Given the description of an element on the screen output the (x, y) to click on. 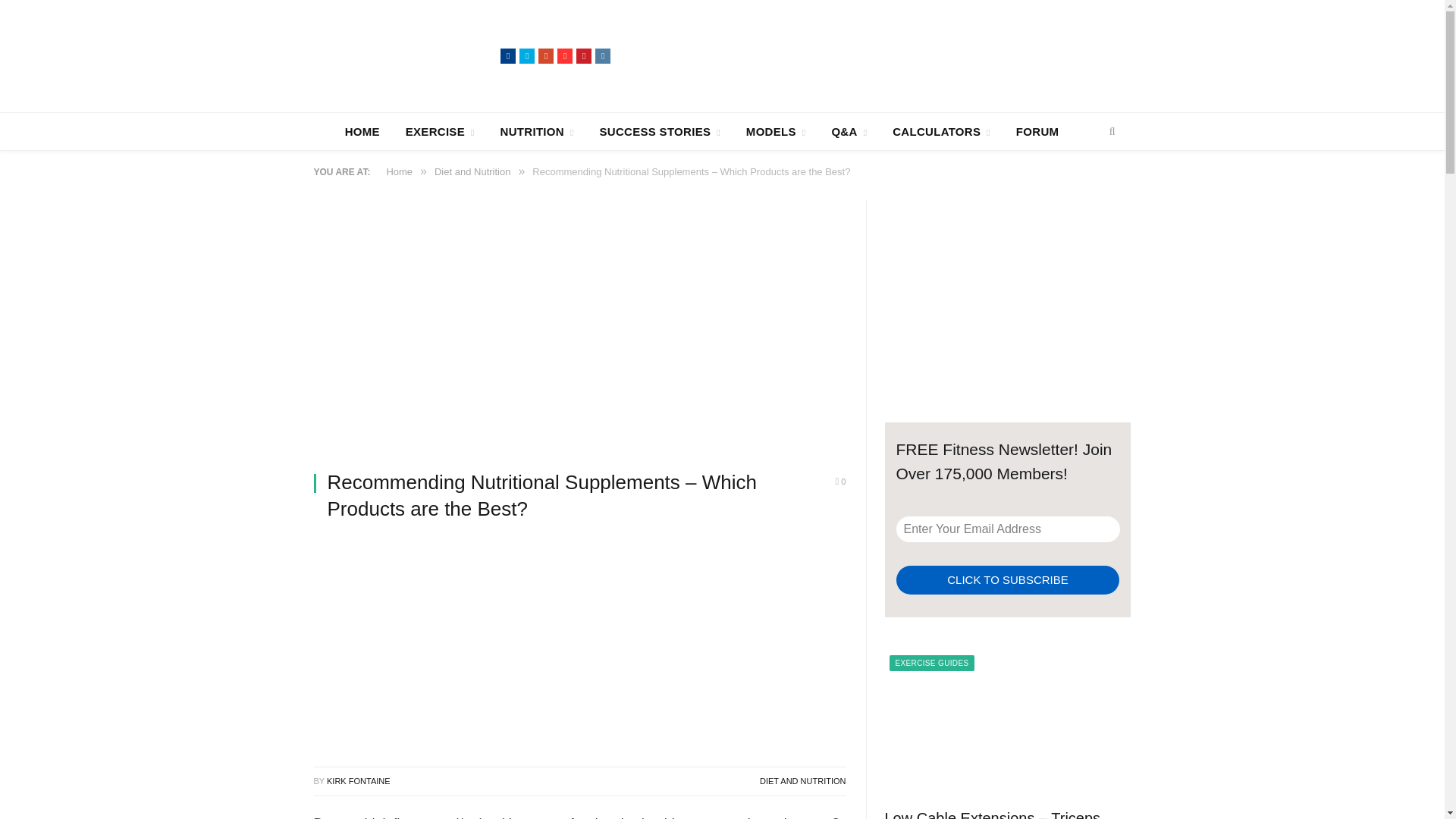
Twitter (526, 55)
Instagram (602, 55)
HOME (362, 131)
CLICK TO SUBSCRIBE (1007, 580)
Pinterest (583, 55)
EXERCISE (440, 131)
Instagram (602, 55)
YouTube (564, 55)
ShapeFit.com (407, 54)
Pinterest (583, 55)
